Given the description of an element on the screen output the (x, y) to click on. 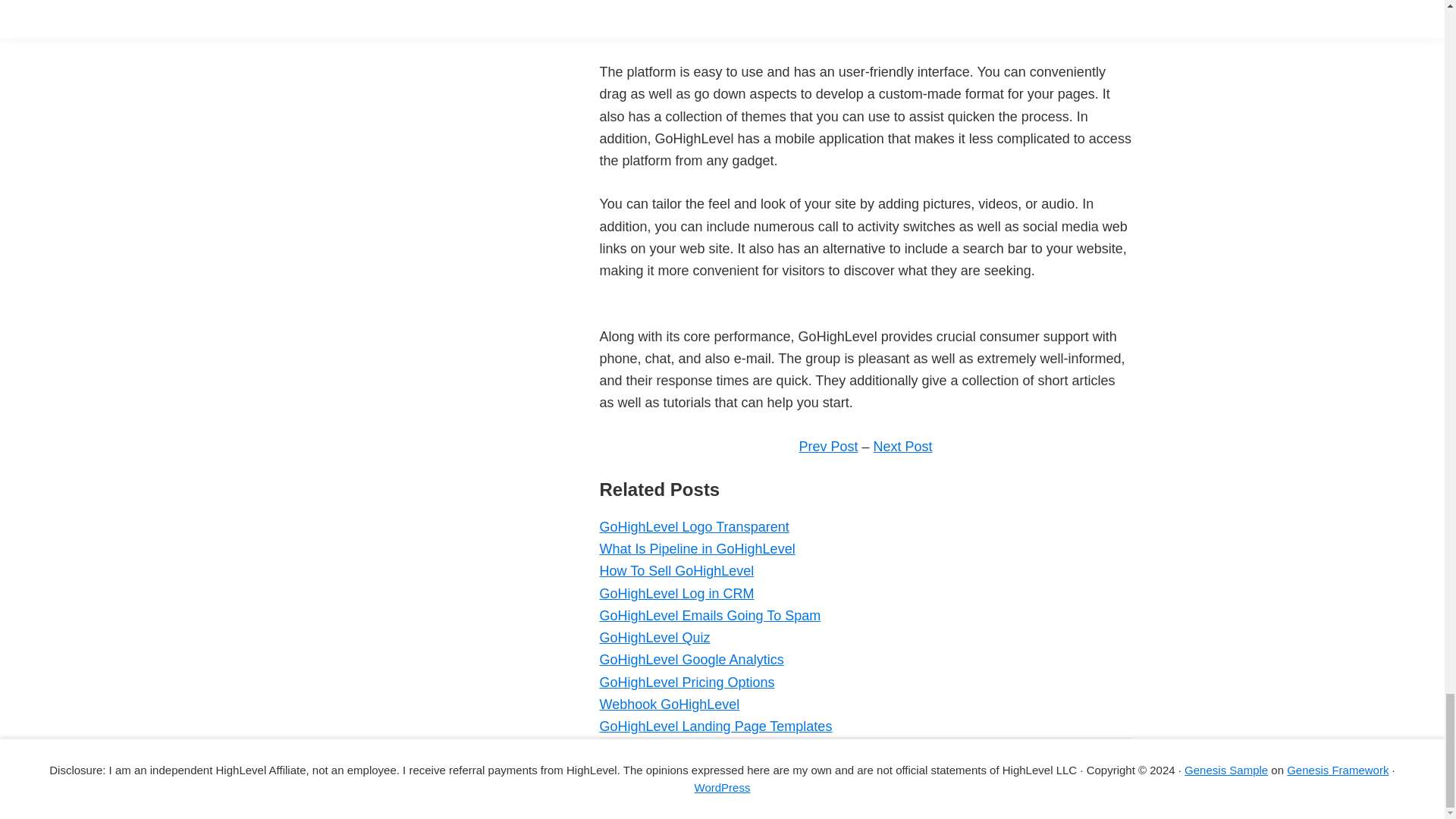
Next Post (903, 446)
GoHighLevel Quiz (654, 637)
GoHighLevel Quiz (654, 637)
How To Sell GoHighLevel (676, 570)
What Is Pipeline in GoHighLevel (696, 548)
GoHighLevel Logo Transparent (693, 526)
GoHighLevel Landing Page Templates (714, 726)
GoHighLevel Google Analytics (690, 659)
GoHighLevel Log in CRM (676, 593)
GoHighLevel Emails Going To Spam (709, 615)
